Given the description of an element on the screen output the (x, y) to click on. 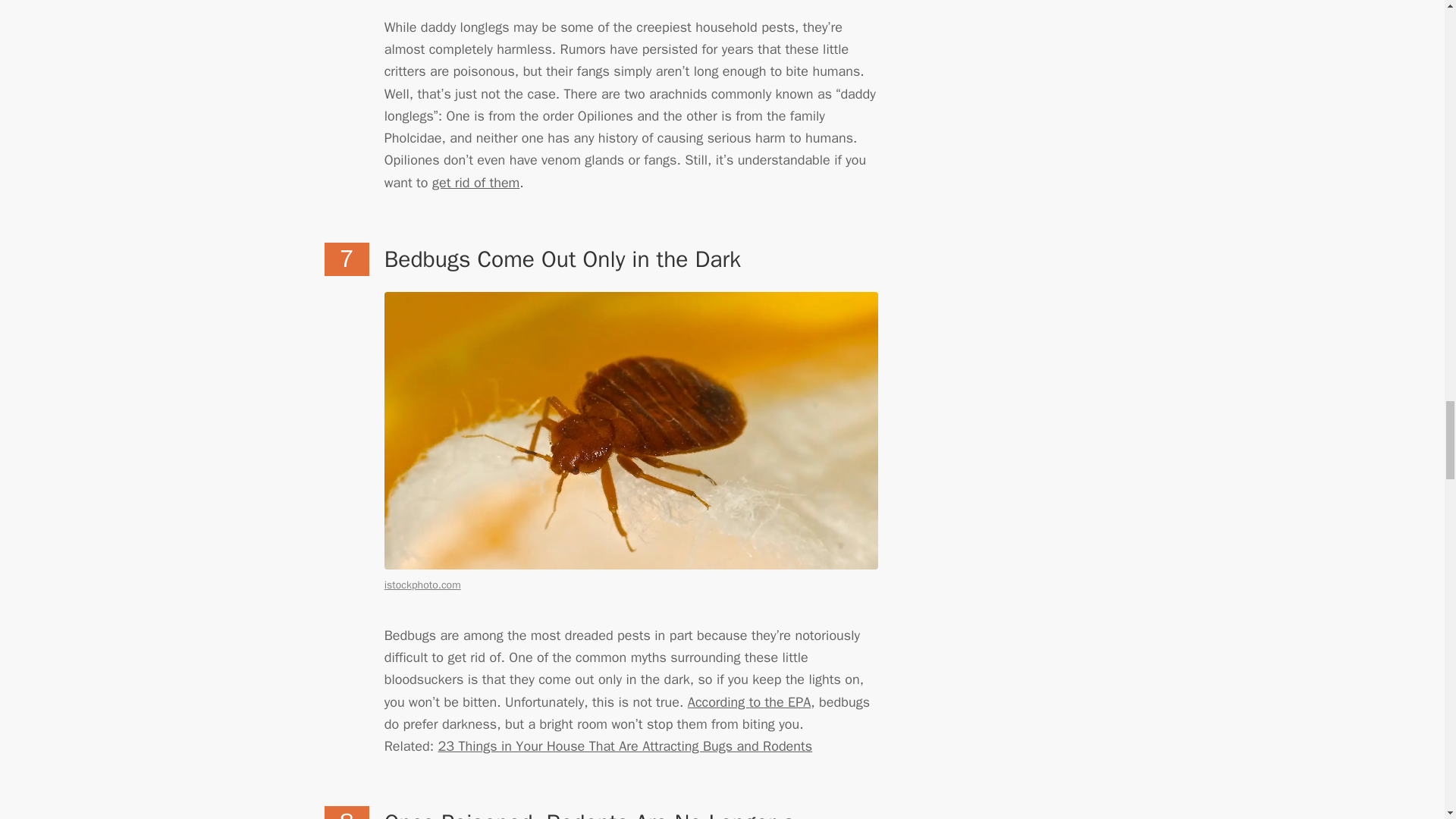
istockphoto.com (422, 584)
30 Things in Your House That Are Attracting Bugs and Rodents (625, 745)
